Given the description of an element on the screen output the (x, y) to click on. 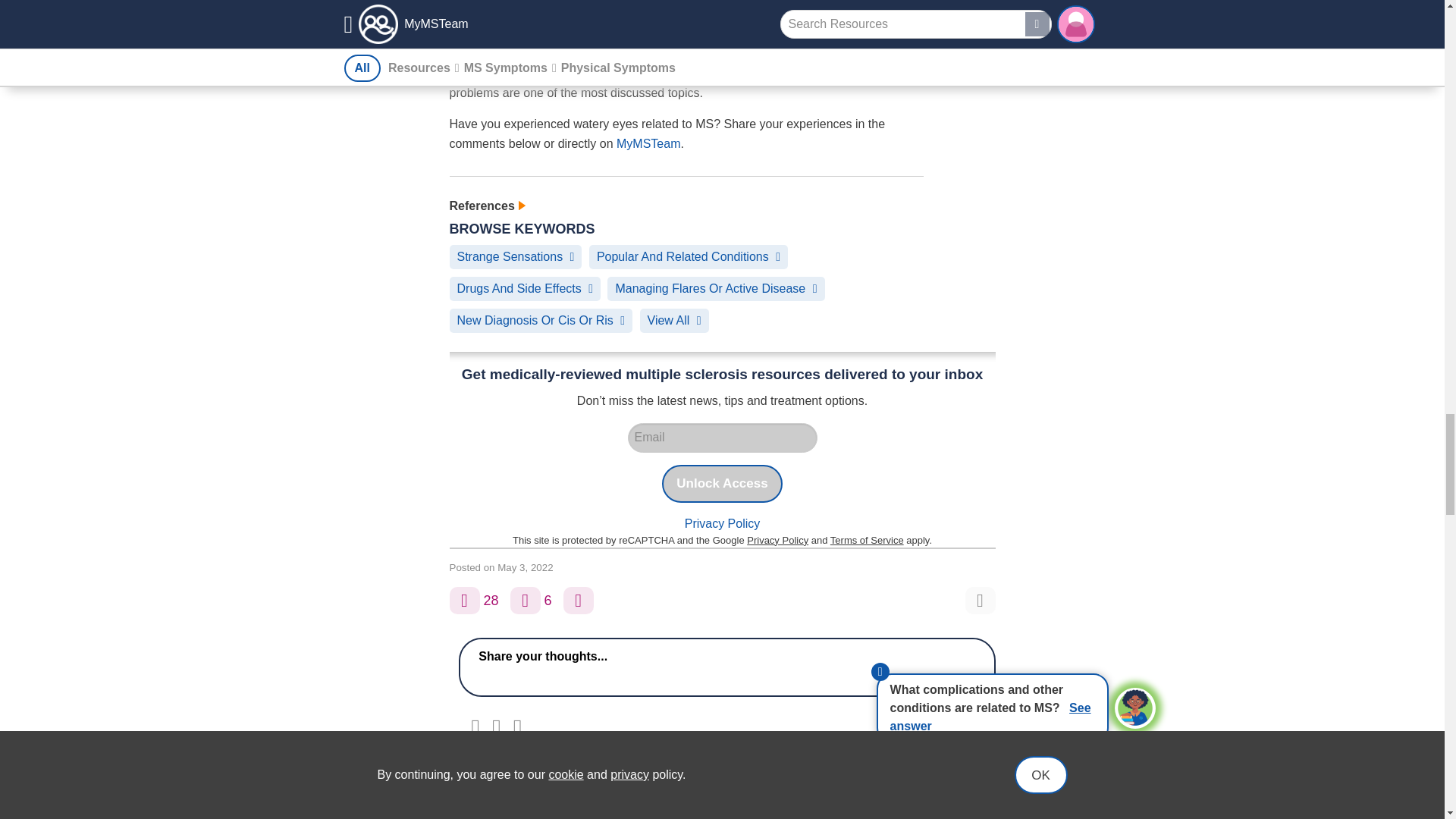
I like this (463, 600)
Unlock Access (721, 483)
Add a comment (525, 600)
Ask a question (578, 600)
submit (955, 727)
